Given the description of an element on the screen output the (x, y) to click on. 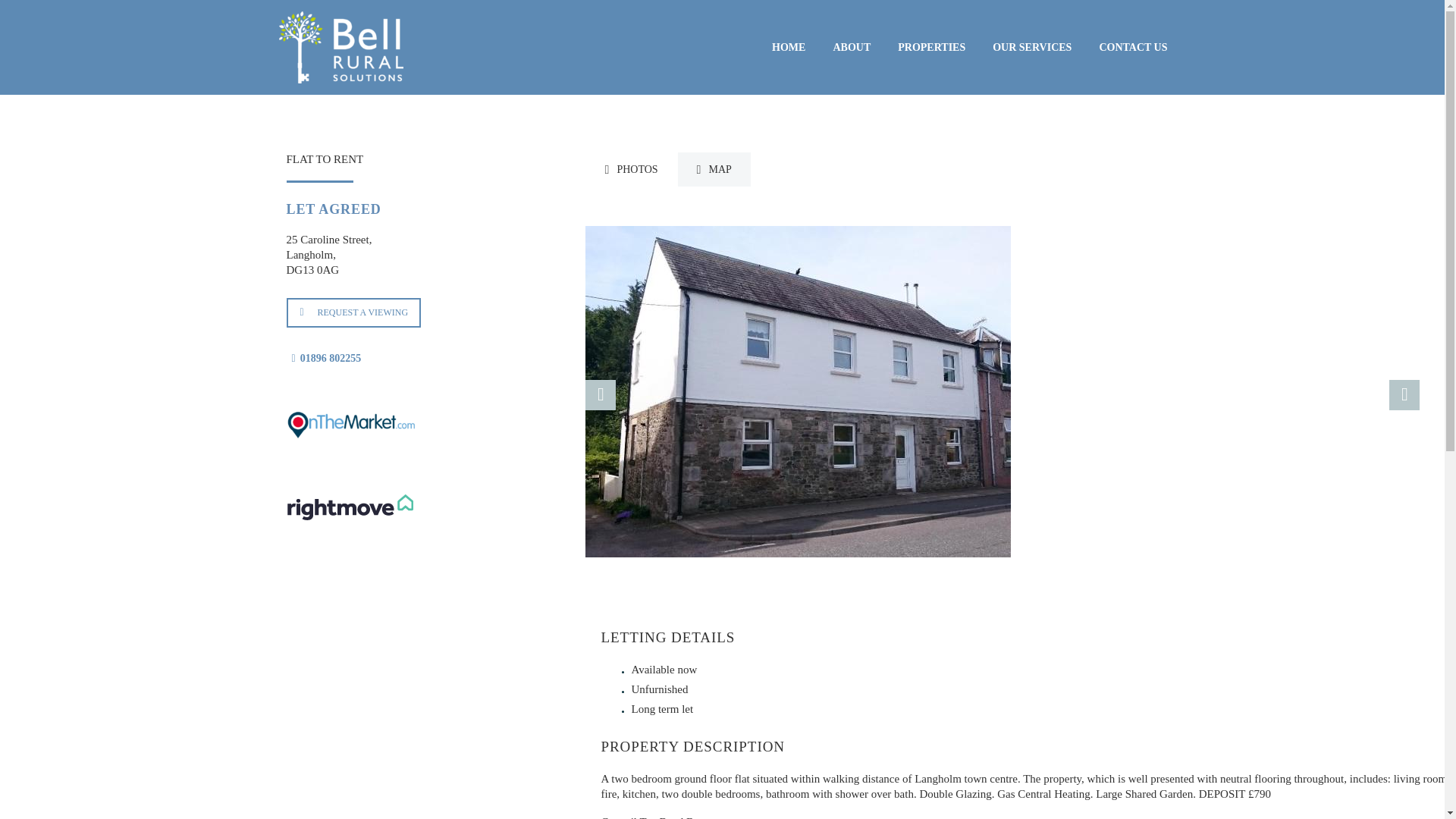
PROPERTIES (931, 46)
PHOTOS (631, 169)
ABOUT (851, 46)
HOME (788, 46)
MAP (714, 169)
REQUEST A VIEWING (354, 311)
CONTACT US (1132, 46)
OUR SERVICES (1032, 46)
